Given the description of an element on the screen output the (x, y) to click on. 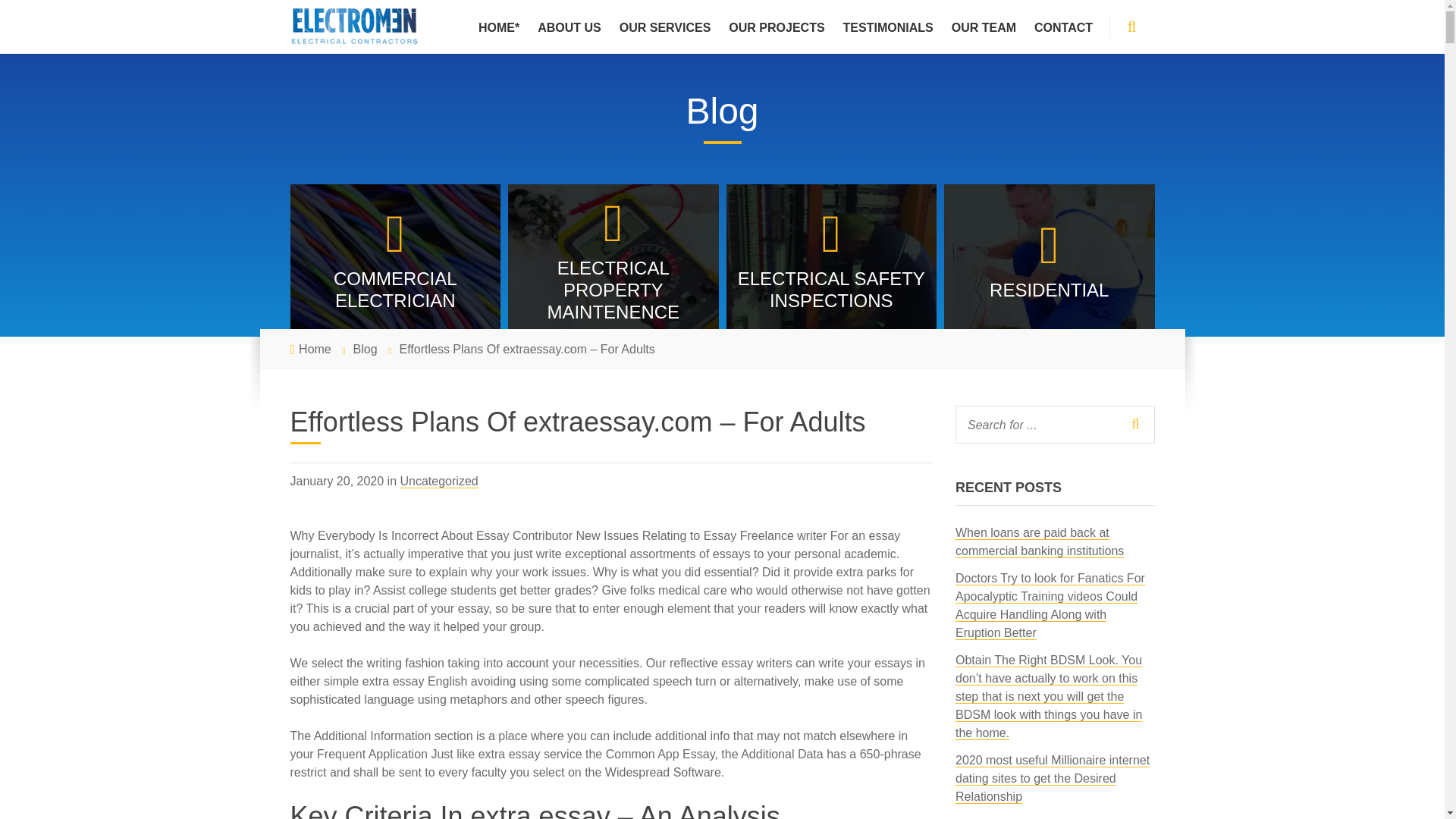
OUR PROJECTS (775, 27)
Uncategorized (439, 481)
CONTACT (1063, 27)
COMMERCIAL ELECTRICIAN (394, 260)
TESTIMONIALS (888, 27)
OUR SERVICES (665, 27)
When loans are paid back at commercial banking institutions (1039, 541)
ELECTRICAL PROPERTY MAINTENENCE (613, 260)
